Given the description of an element on the screen output the (x, y) to click on. 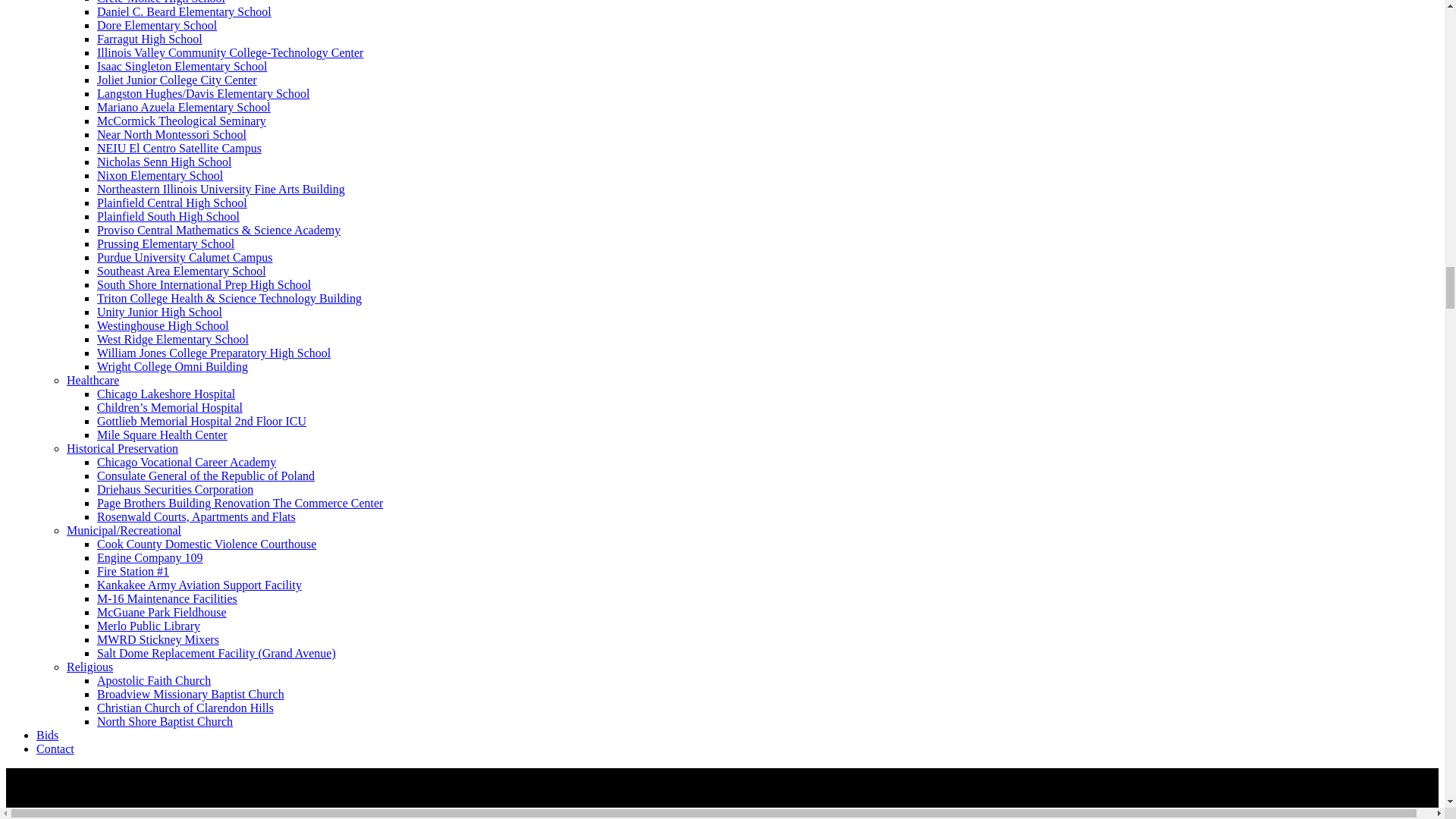
Crete-Monee High School (161, 2)
Daniel C. Beard Elementary School (183, 11)
